Given the description of an element on the screen output the (x, y) to click on. 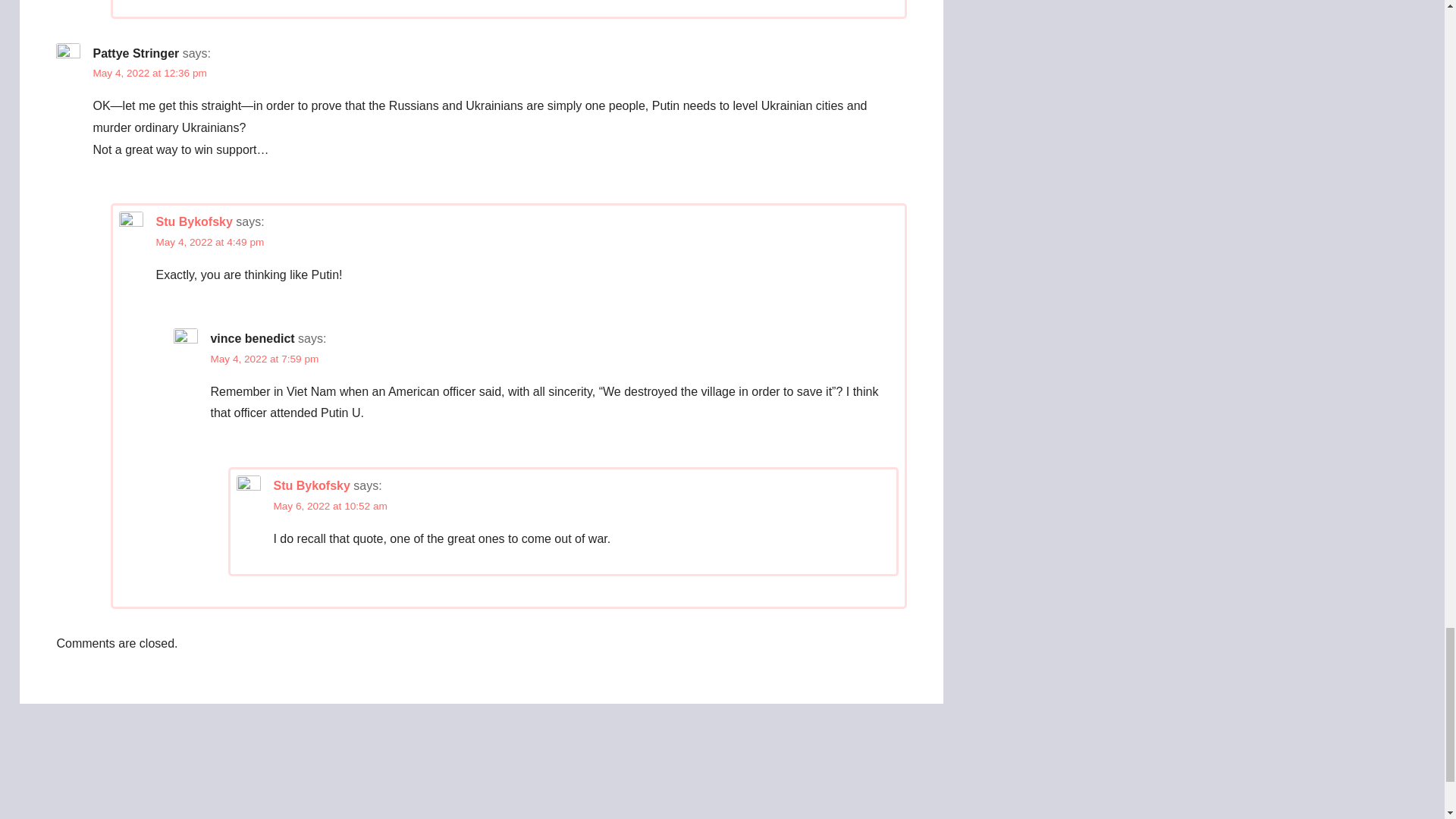
May 6, 2022 at 10:52 am (330, 505)
May 4, 2022 at 4:49 pm (209, 242)
May 4, 2022 at 7:59 pm (263, 358)
Stu Bykofsky (311, 485)
May 4, 2022 at 12:36 pm (149, 72)
Stu Bykofsky (193, 221)
